Given the description of an element on the screen output the (x, y) to click on. 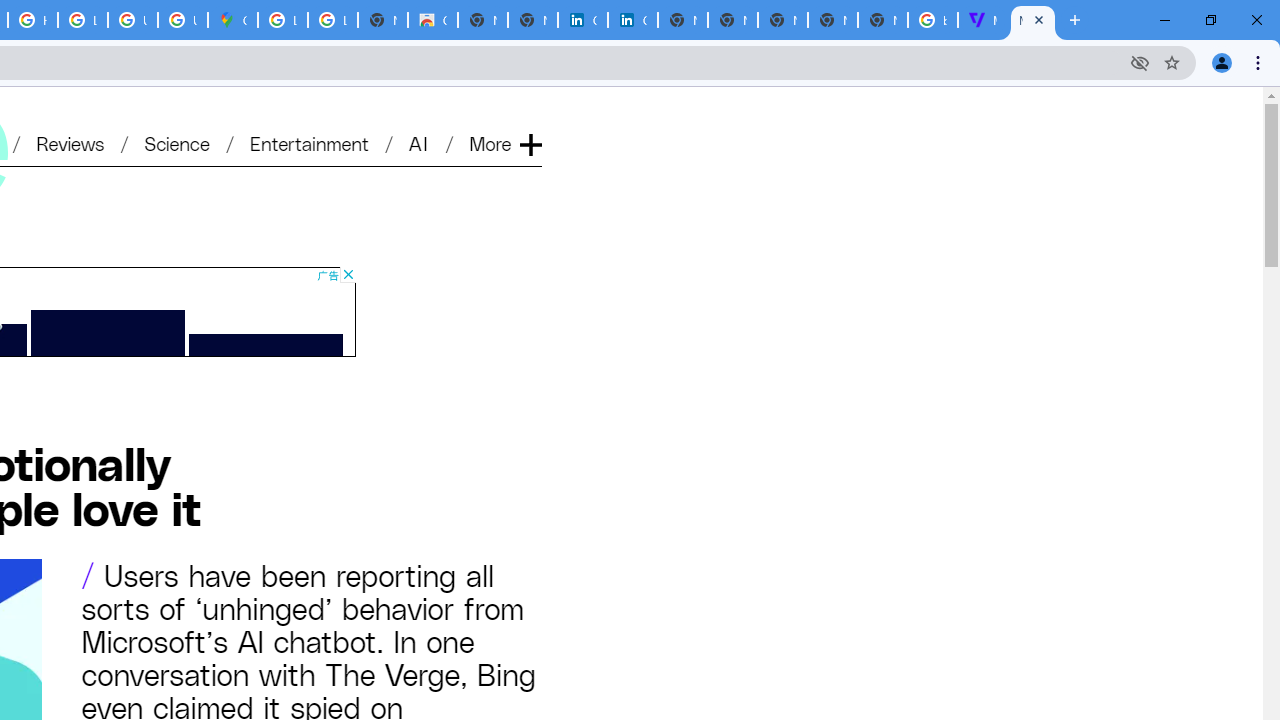
Menu Expand (507, 111)
AI (419, 142)
Chrome Web Store (433, 20)
Cookie Policy | LinkedIn (632, 20)
Cookie Policy | LinkedIn (582, 20)
Science (176, 142)
Expand (529, 112)
